Given the description of an element on the screen output the (x, y) to click on. 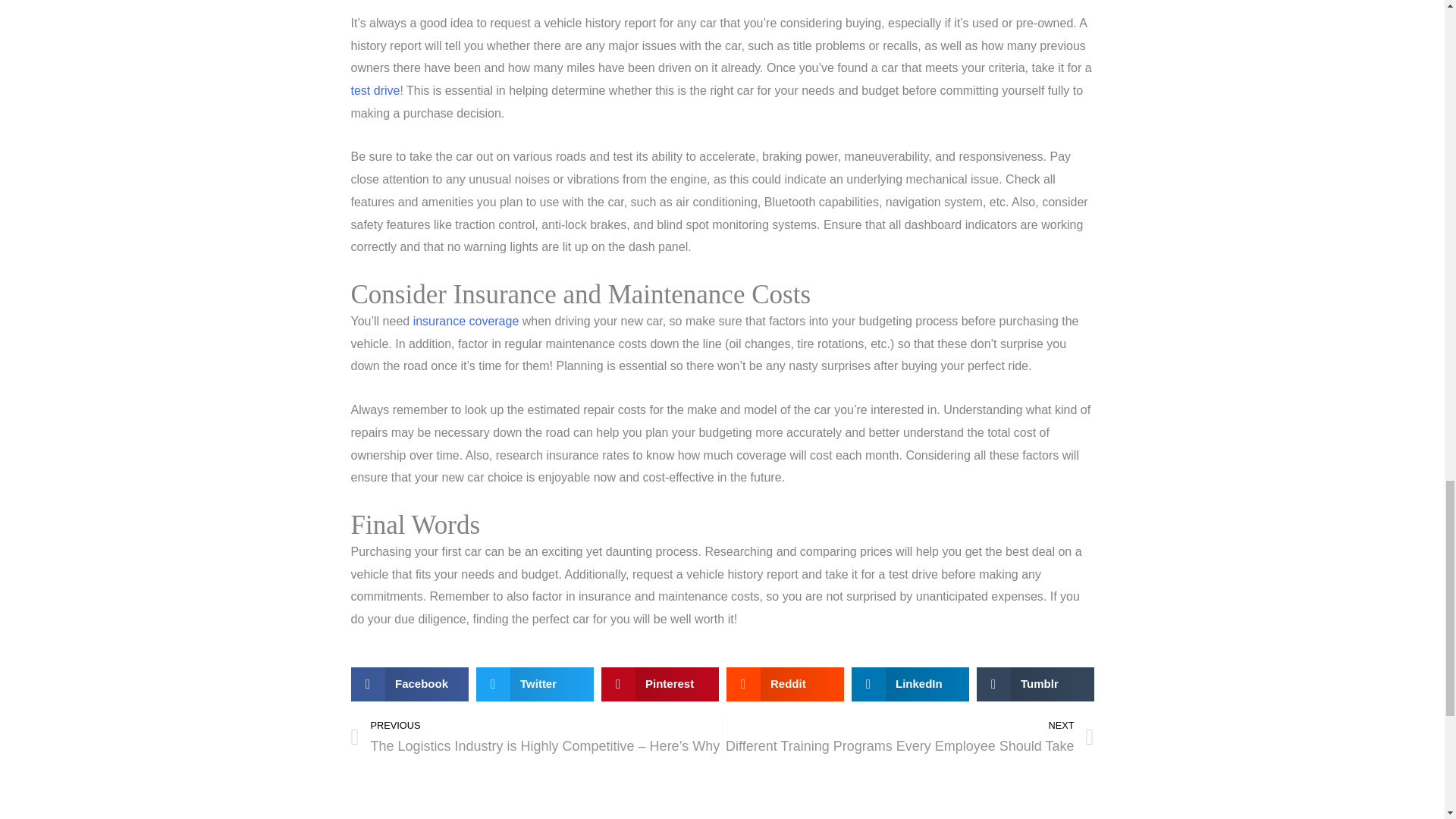
insurance coverage (466, 320)
test drive (374, 90)
